Given the description of an element on the screen output the (x, y) to click on. 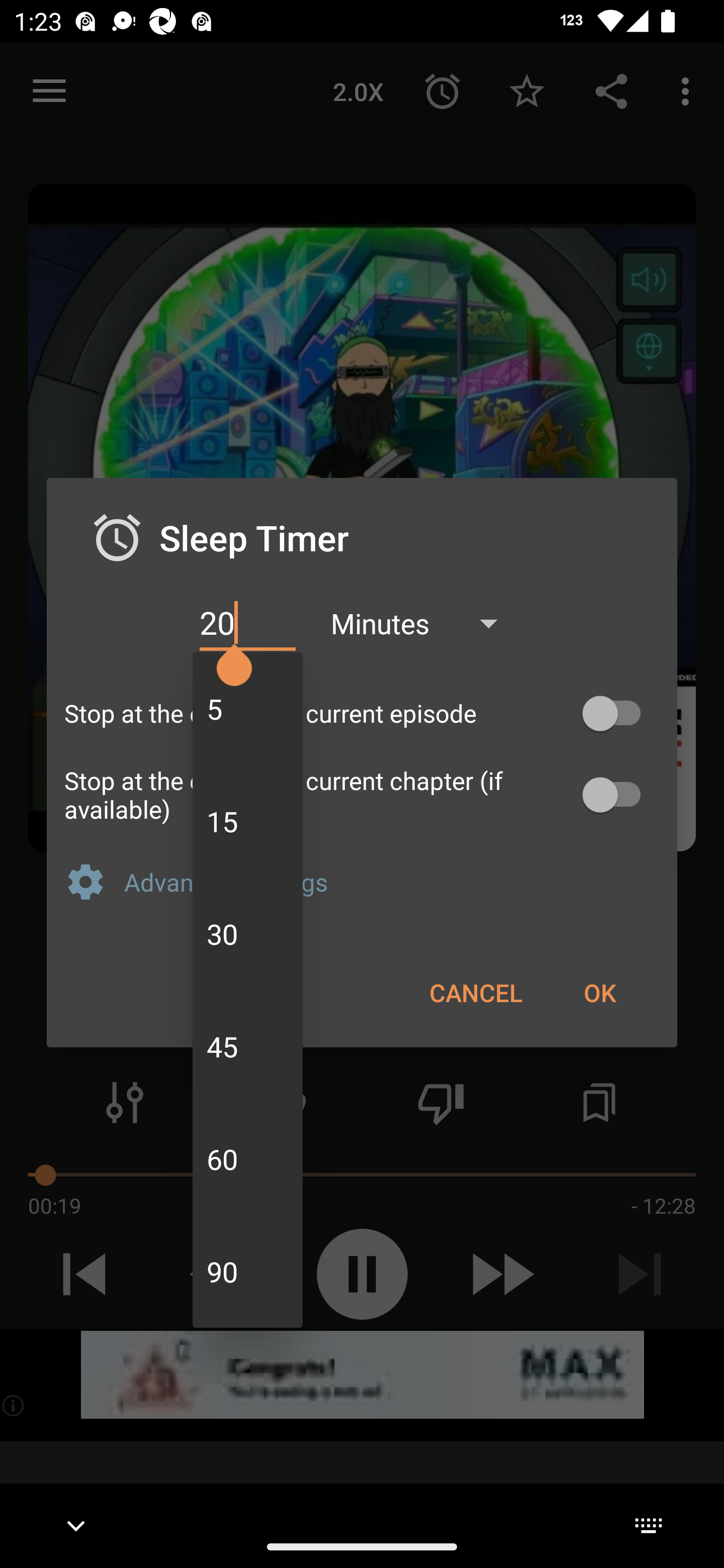
20 (247, 623)
Minutes (423, 623)
Stop at the end of the current episode (361, 712)
Advanced settings (391, 881)
CANCEL (475, 992)
OK (599, 992)
